Given the description of an element on the screen output the (x, y) to click on. 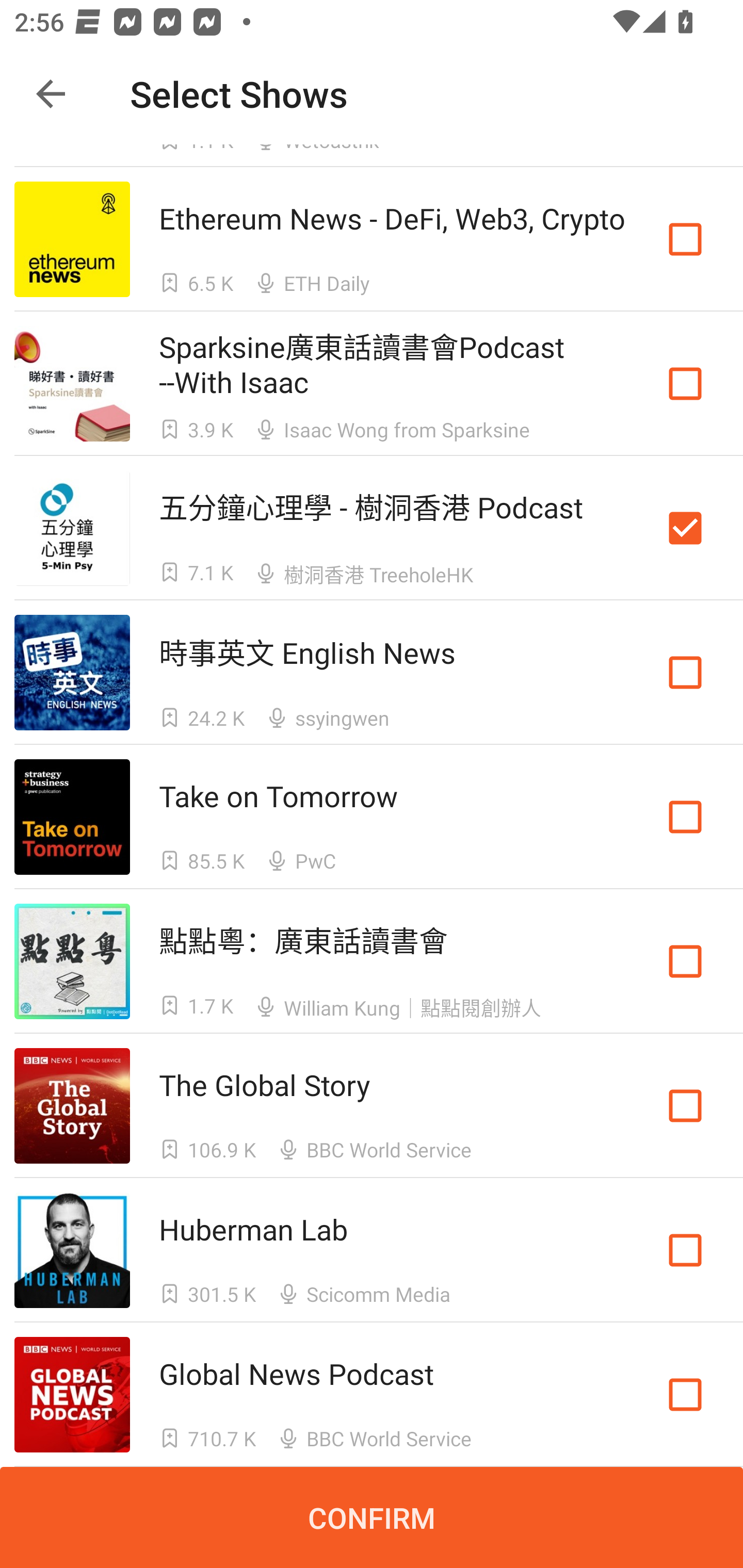
Navigate up (50, 93)
Take on Tomorrow Take on Tomorrow  85.5 K  PwC (371, 816)
CONFIRM (371, 1517)
